Given the description of an element on the screen output the (x, y) to click on. 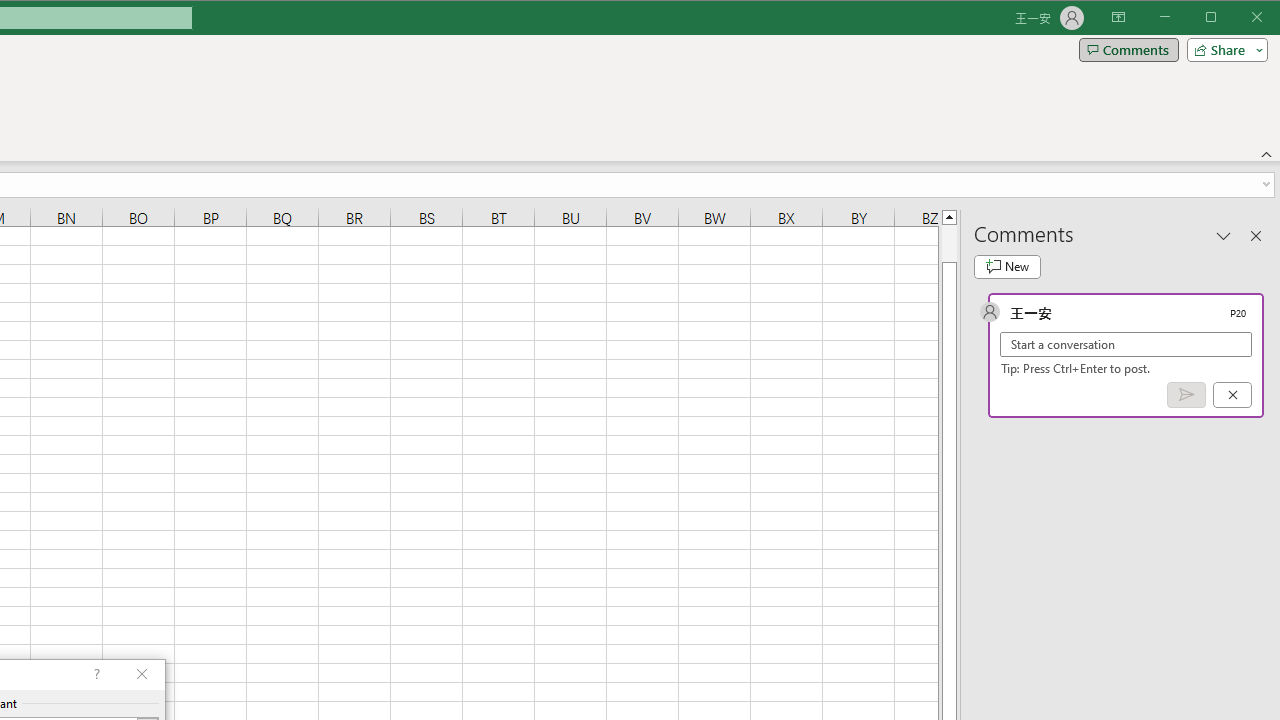
Share (1223, 49)
Minimize (1217, 18)
Comments (1128, 49)
Task Pane Options (1224, 235)
New comment (1007, 266)
Page up (948, 243)
Ribbon Display Options (1118, 17)
Cancel (1232, 395)
Line up (948, 216)
Close pane (1256, 235)
Collapse the Ribbon (1267, 154)
Post comment (Ctrl + Enter) (1186, 395)
